Given the description of an element on the screen output the (x, y) to click on. 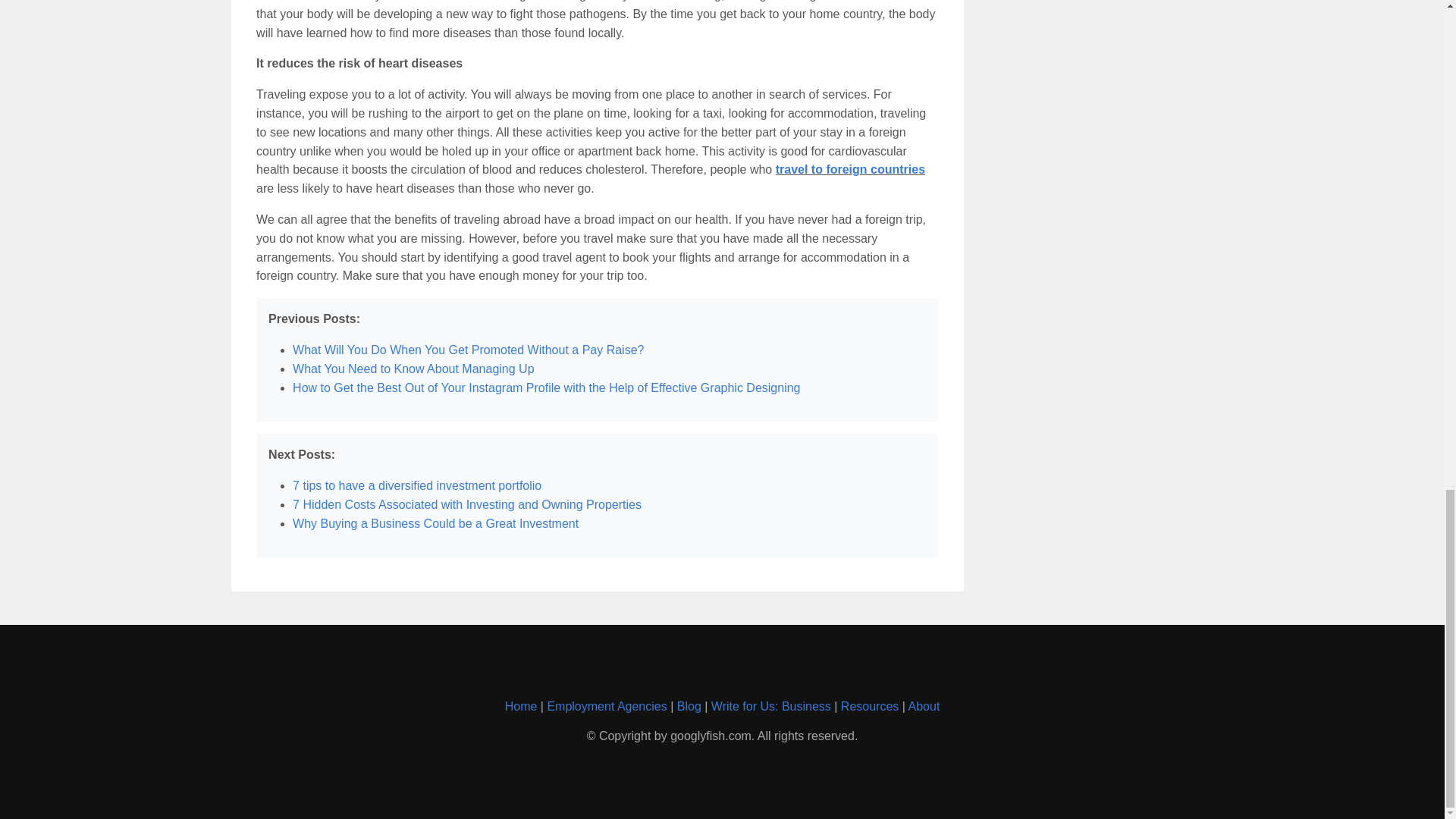
What Will You Do When You Get Promoted Without a Pay Raise? (467, 349)
Employment Agencies (606, 706)
travel to foreign countries (850, 169)
7 tips to have a diversified investment portfolio (416, 485)
What You Need to Know About Managing Up (413, 368)
Why Buying a Business Could be a Great Investment (435, 522)
Home (521, 706)
Blog (689, 706)
